Given the description of an element on the screen output the (x, y) to click on. 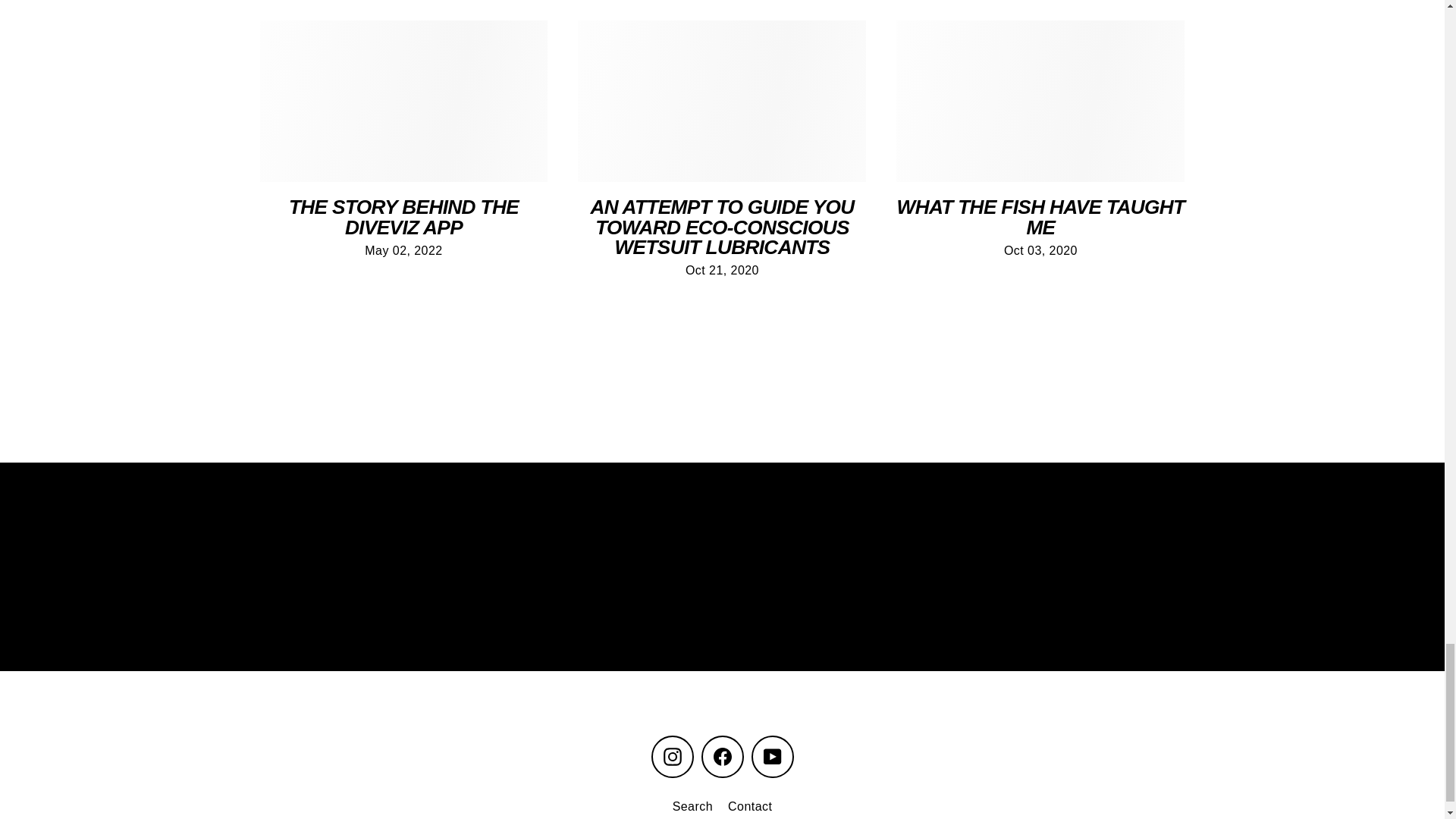
DiveViz on Instagram (671, 756)
THE STORY BEHIND THE DIVEVIZ APP (403, 216)
DiveViz on Facebook (721, 756)
DiveViz on YouTube (772, 756)
WHAT THE FISH HAVE TAUGHT ME (1040, 216)
Facebook (721, 756)
Instagram (671, 756)
